Given the description of an element on the screen output the (x, y) to click on. 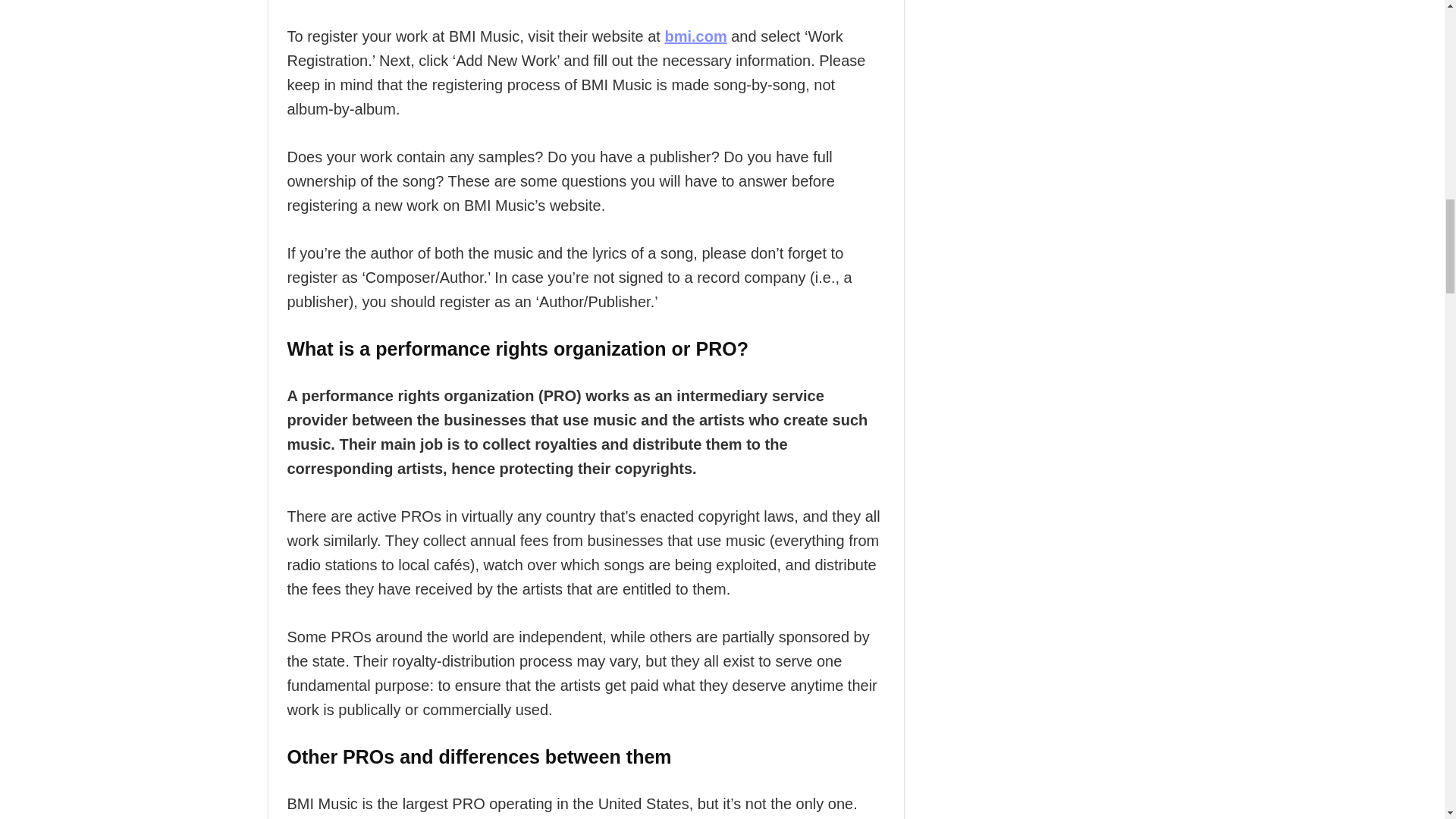
bmi.com (694, 36)
